Given the description of an element on the screen output the (x, y) to click on. 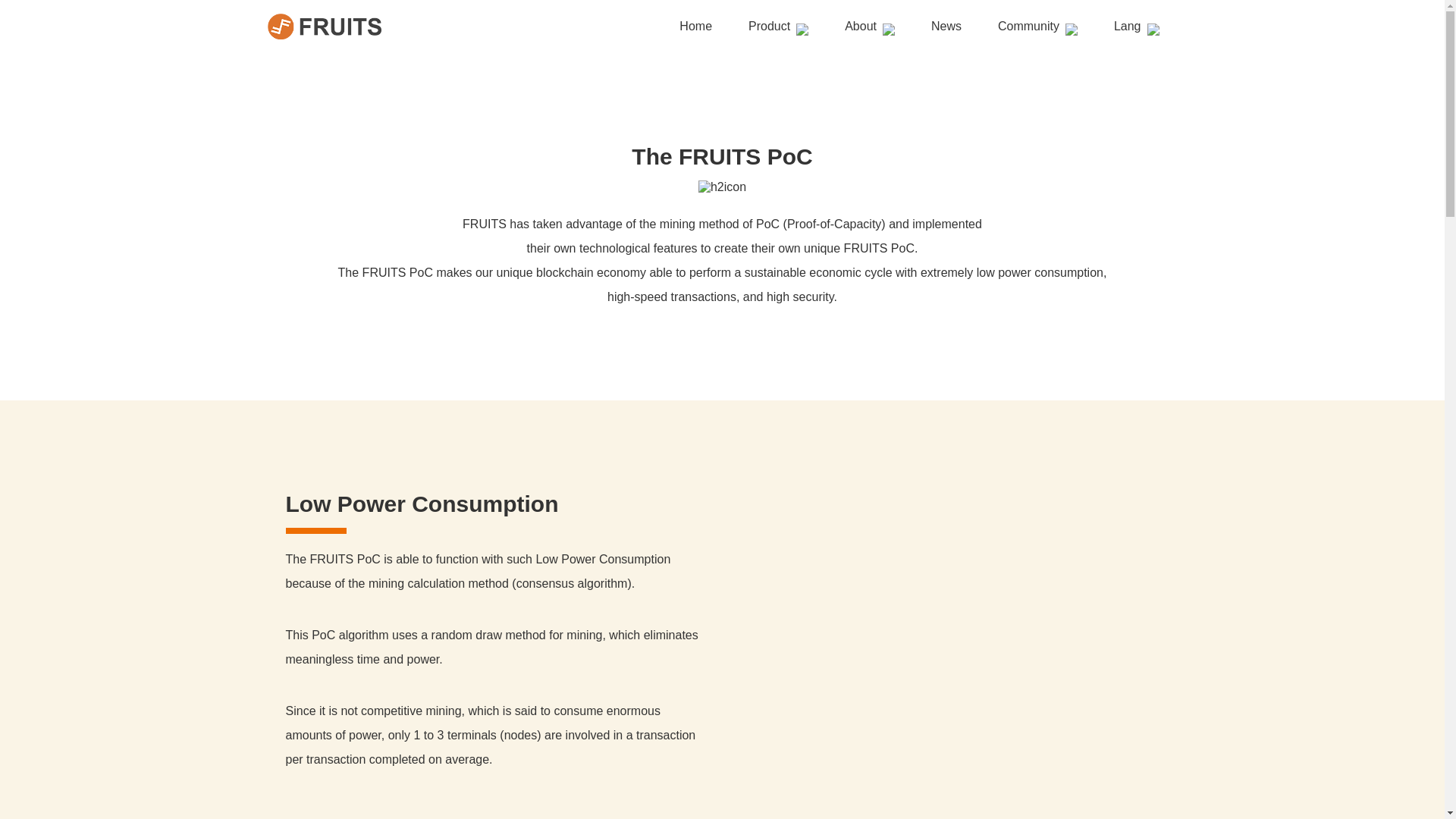
Home (695, 25)
News (945, 25)
